Given the description of an element on the screen output the (x, y) to click on. 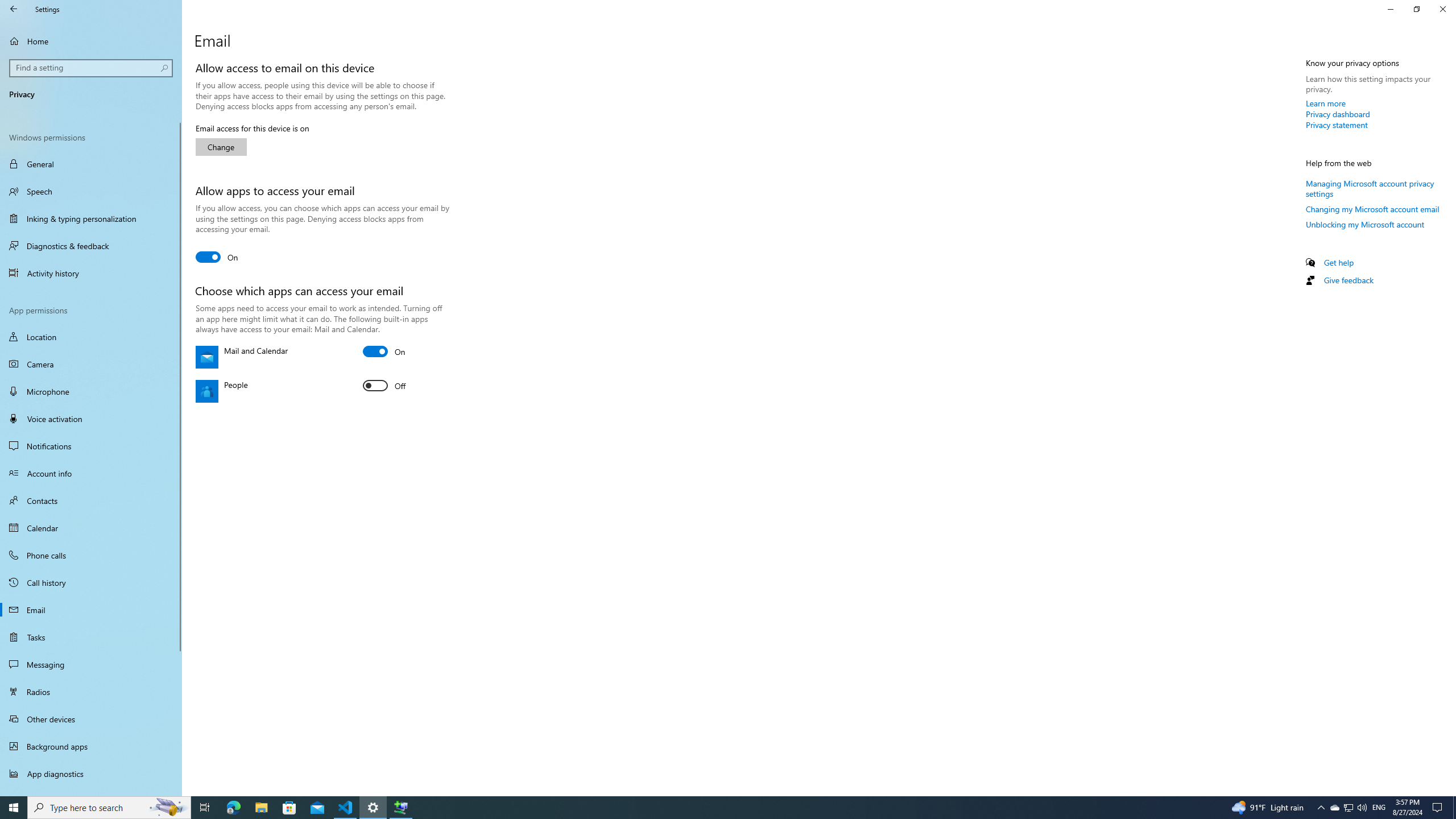
Running applications (706, 807)
Start (13, 807)
Show desktop (1454, 807)
Change (221, 146)
Other devices (91, 718)
Q2790: 100% (1361, 807)
Extensible Wizards Host Process - 1 running window (400, 807)
General (91, 163)
Automatic file downloads (91, 791)
Tray Input Indicator - English (United States) (1378, 807)
Allow apps to access your email (216, 257)
Restore Settings (1416, 9)
Phone calls (91, 554)
People (384, 385)
App diagnostics (91, 773)
